Given the description of an element on the screen output the (x, y) to click on. 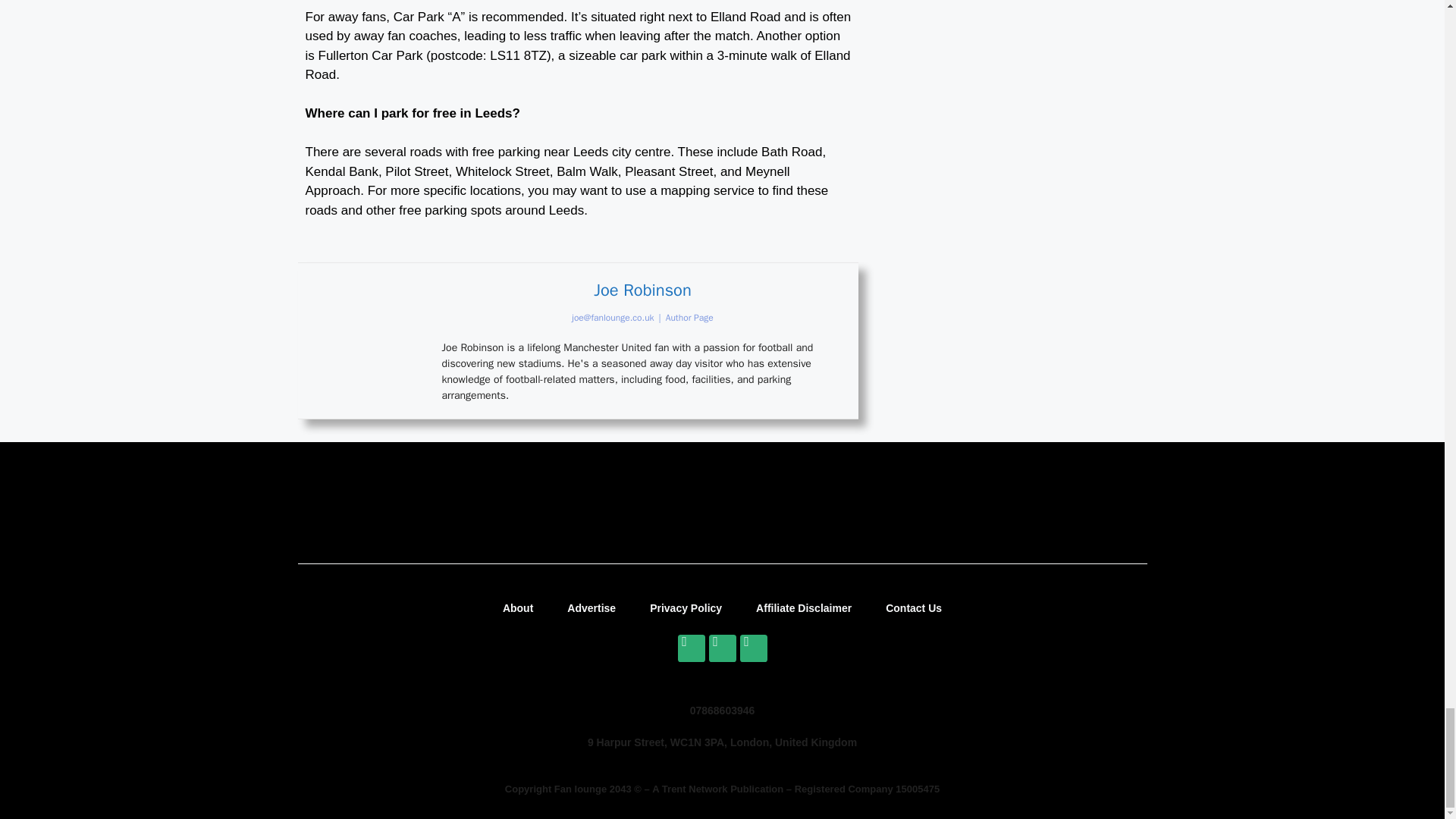
About (518, 607)
Author Page (689, 317)
Advertise (590, 607)
Joe Robinson (642, 290)
